Given the description of an element on the screen output the (x, y) to click on. 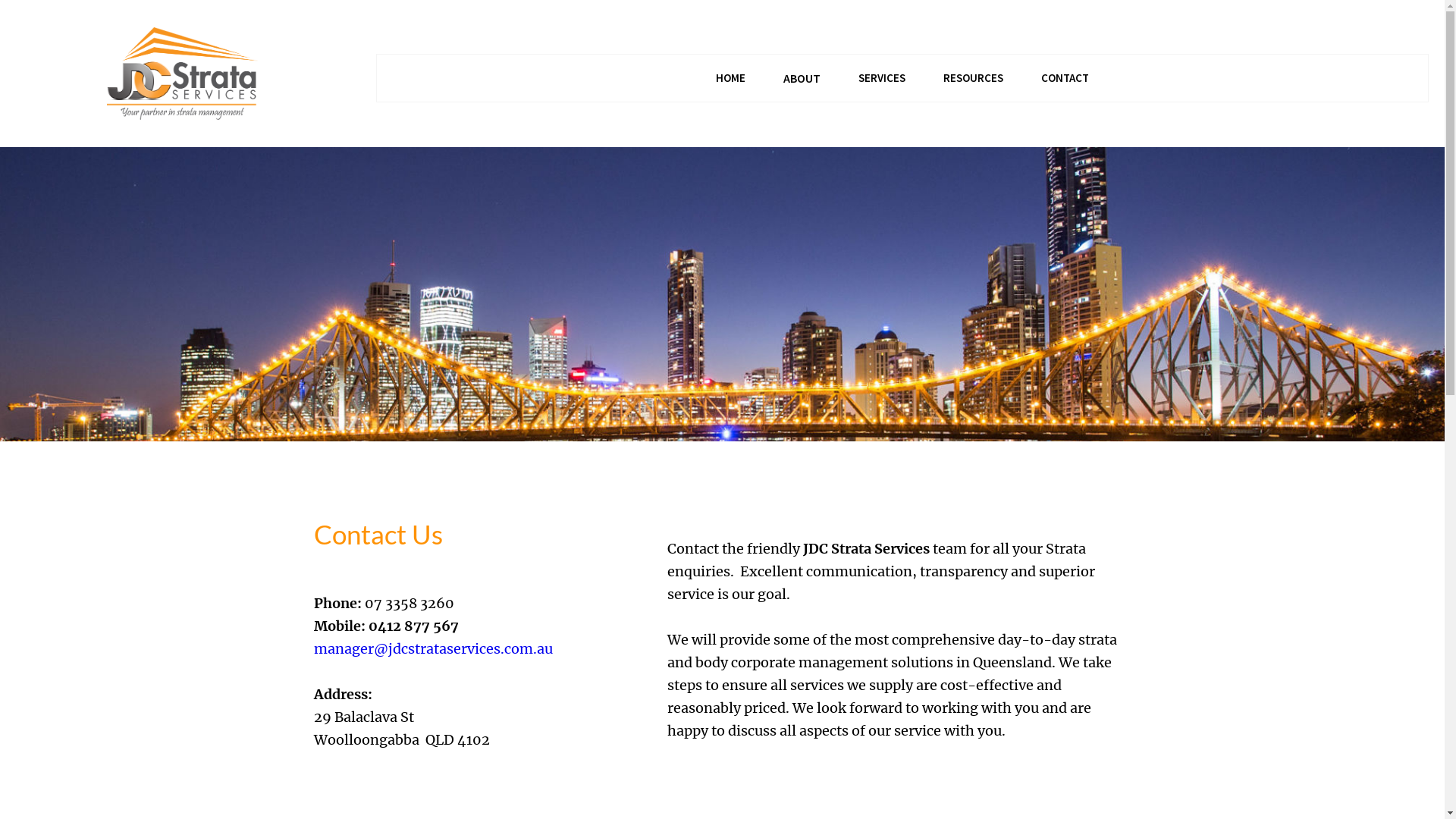
HOME Element type: text (730, 77)
manager@jdcstrataservices.com.au Element type: text (432, 648)
CONTACT Element type: text (1064, 77)
ABOUT Element type: text (801, 77)
JD Strata Services logo Element type: hover (181, 73)
RESOURCES Element type: text (973, 77)
SERVICES Element type: text (881, 77)
